Given the description of an element on the screen output the (x, y) to click on. 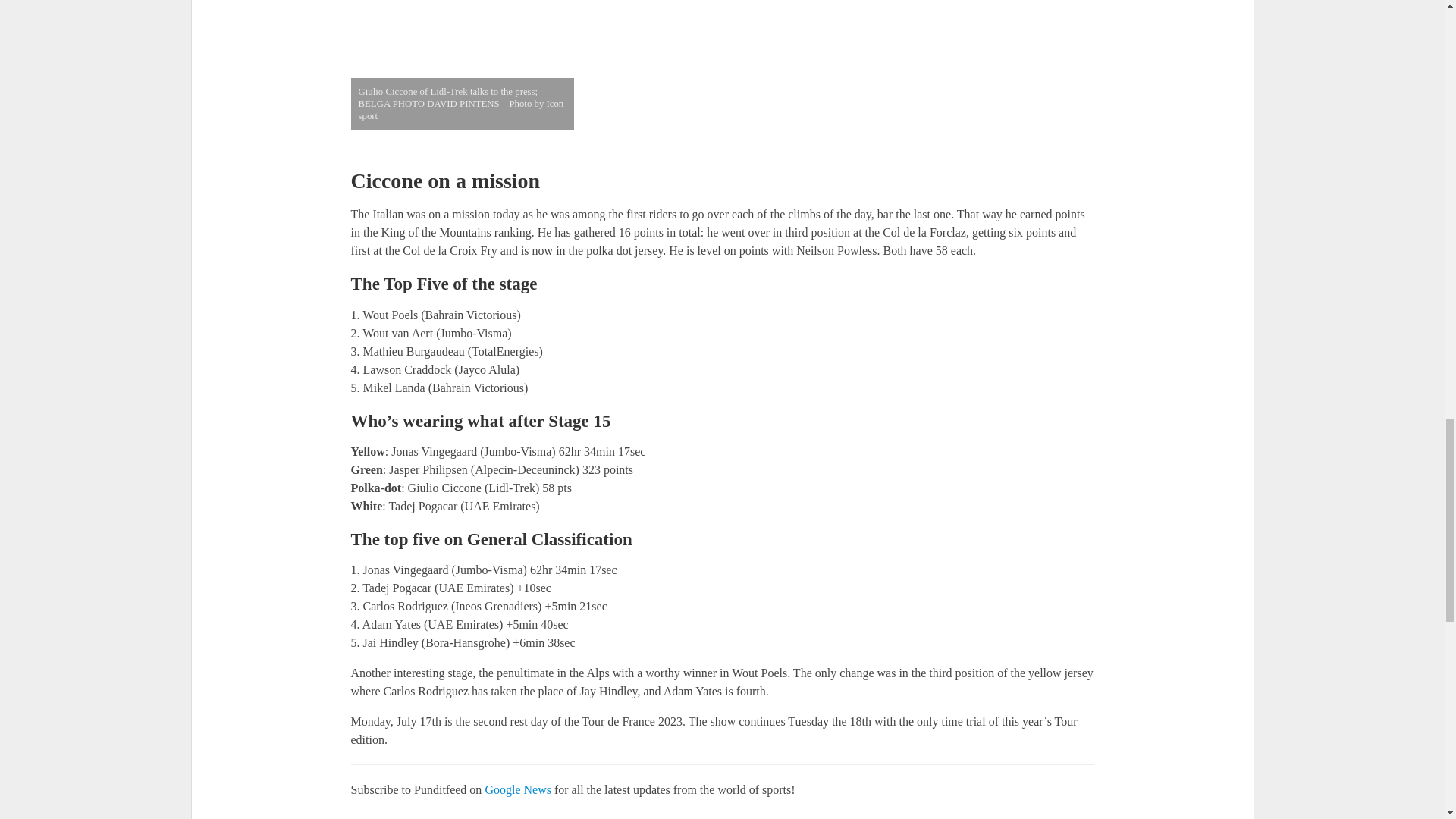
Tour de France Stage 15: Report and Standings 2 (721, 72)
